Given the description of an element on the screen output the (x, y) to click on. 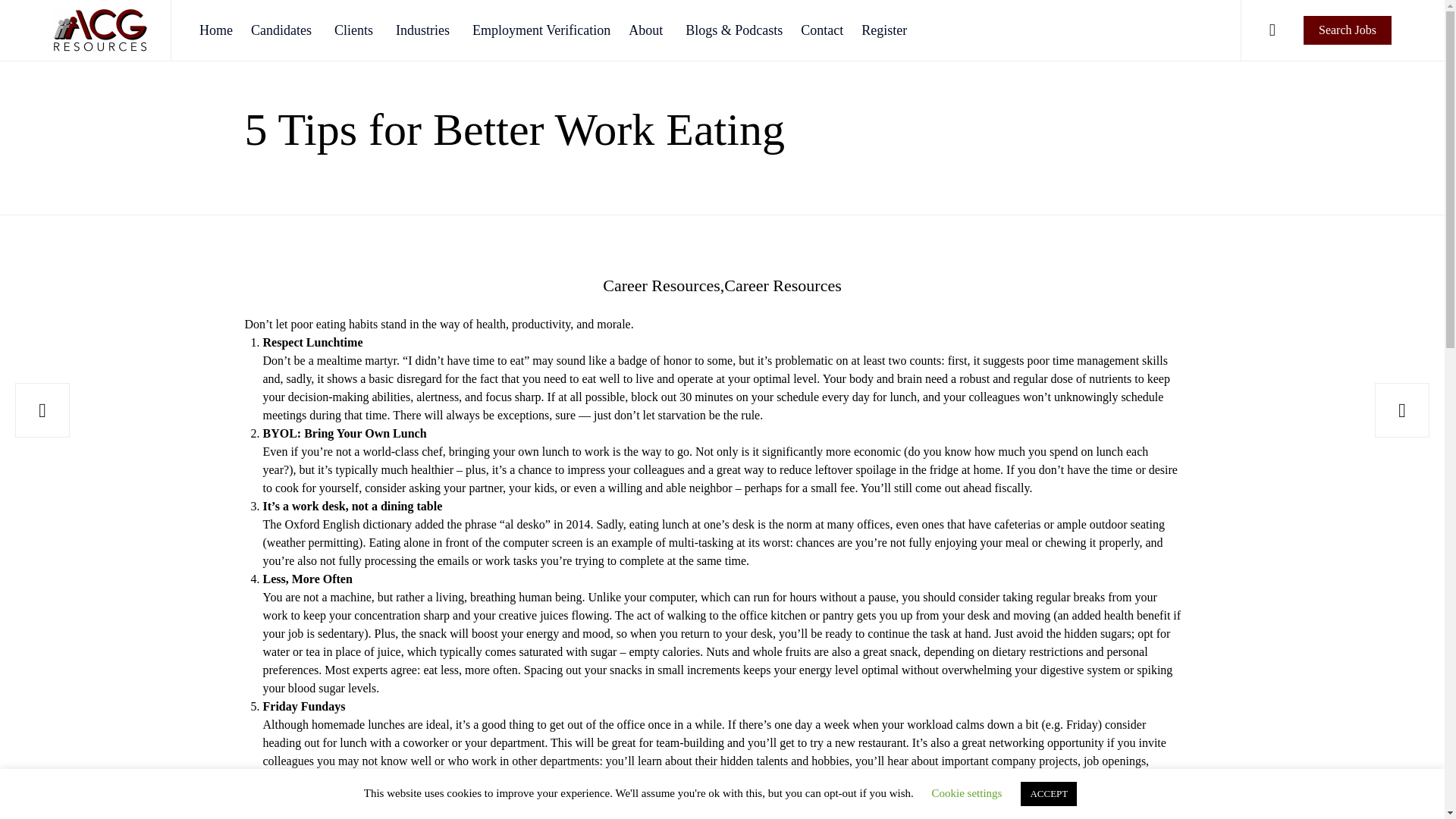
Candidates (282, 30)
Clients (355, 30)
Industries (425, 30)
About (648, 30)
Employment Verification (541, 30)
Career Resources (782, 286)
Register (883, 30)
Search Jobs (1347, 30)
Career Resources (662, 286)
Contact (821, 30)
